Given the description of an element on the screen output the (x, y) to click on. 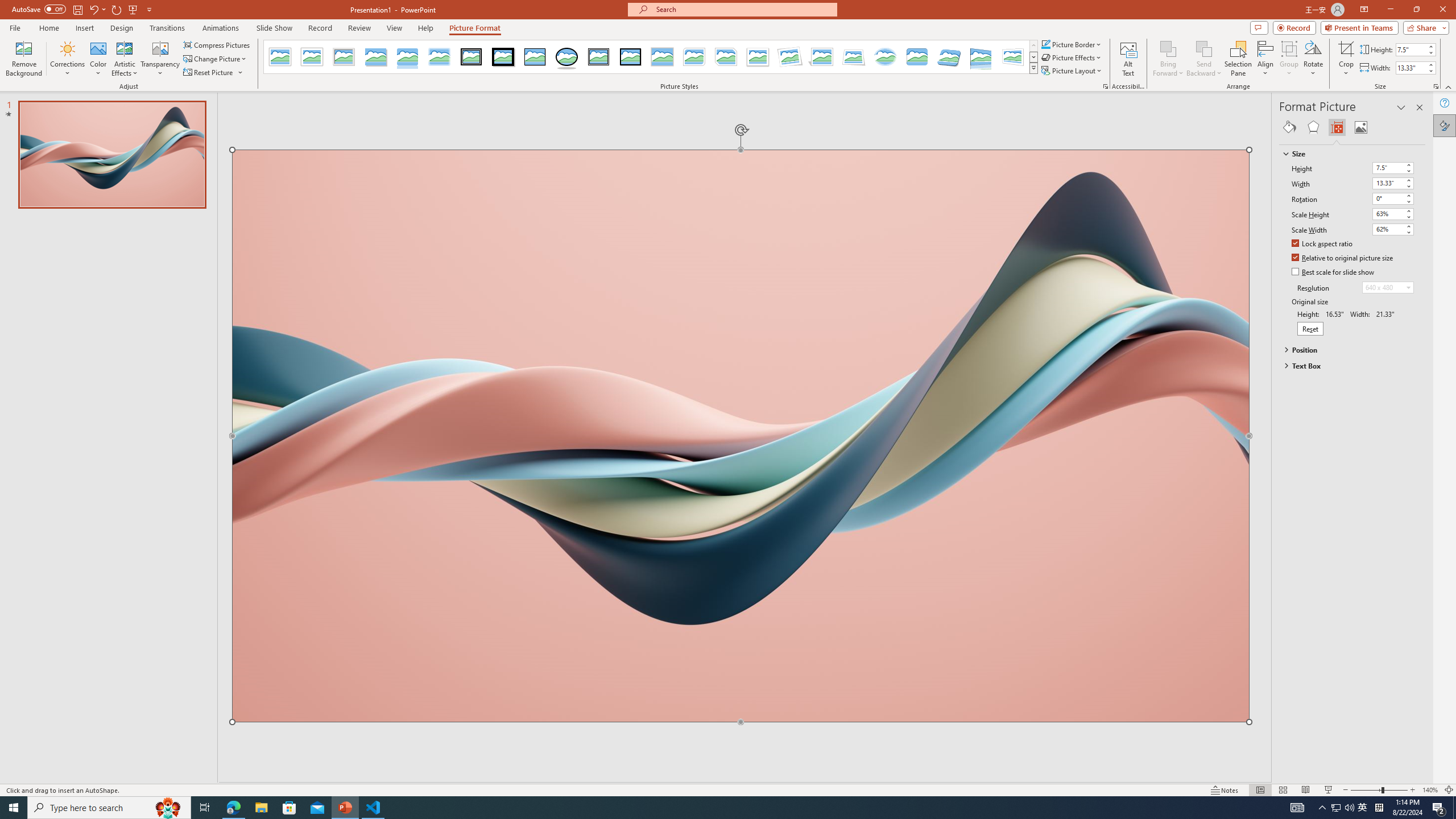
Text Box (1347, 365)
Best scale for slide show (1333, 272)
Fill & Line (1288, 126)
Scale Height (1393, 214)
Moderate Frame, Black (630, 56)
Effects (1313, 126)
Reflected Rounded Rectangle (407, 56)
Wavy 3D art (740, 435)
Change Picture (216, 58)
Group (1288, 58)
